Given the description of an element on the screen output the (x, y) to click on. 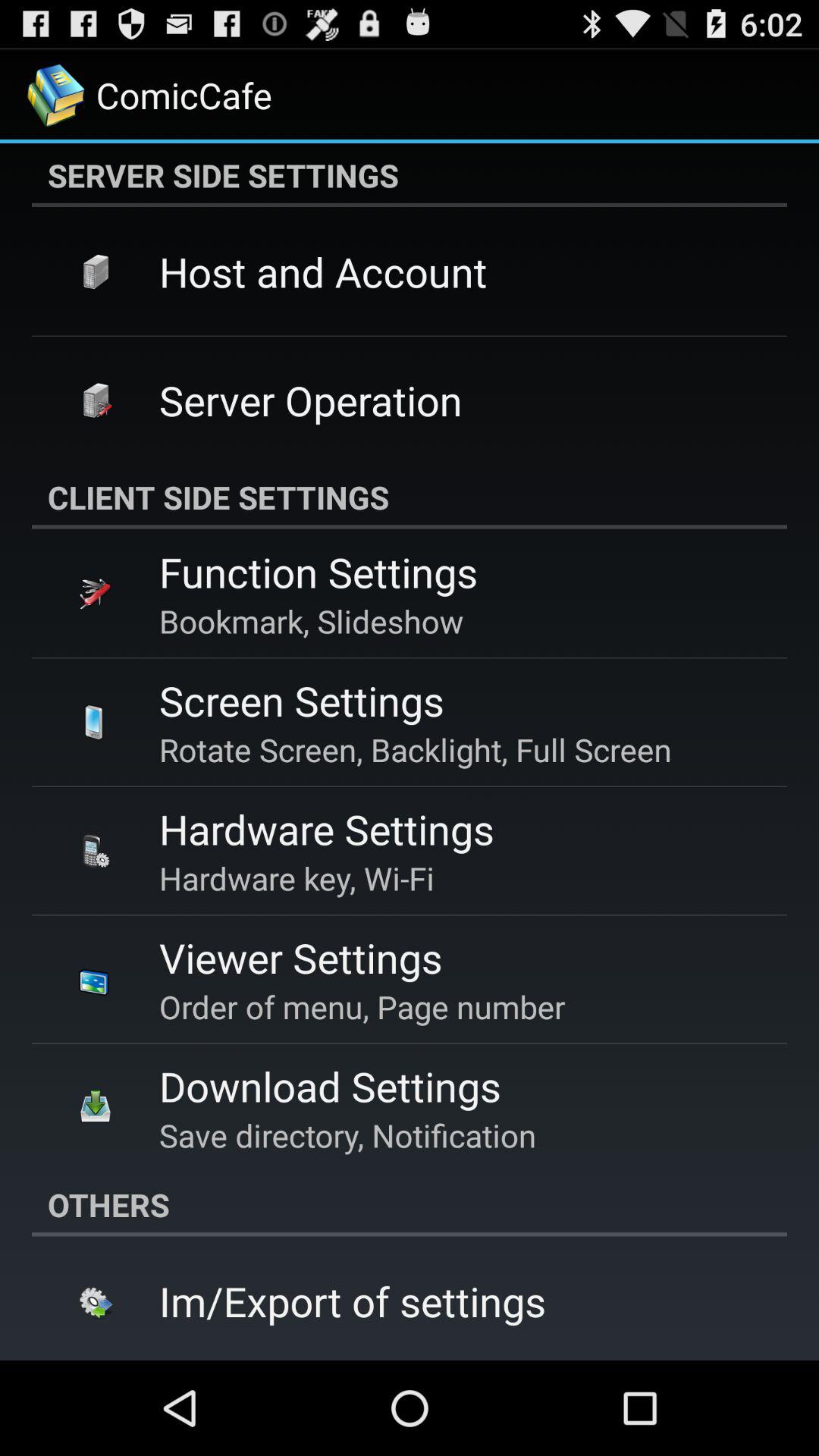
scroll until screen settings icon (301, 700)
